Given the description of an element on the screen output the (x, y) to click on. 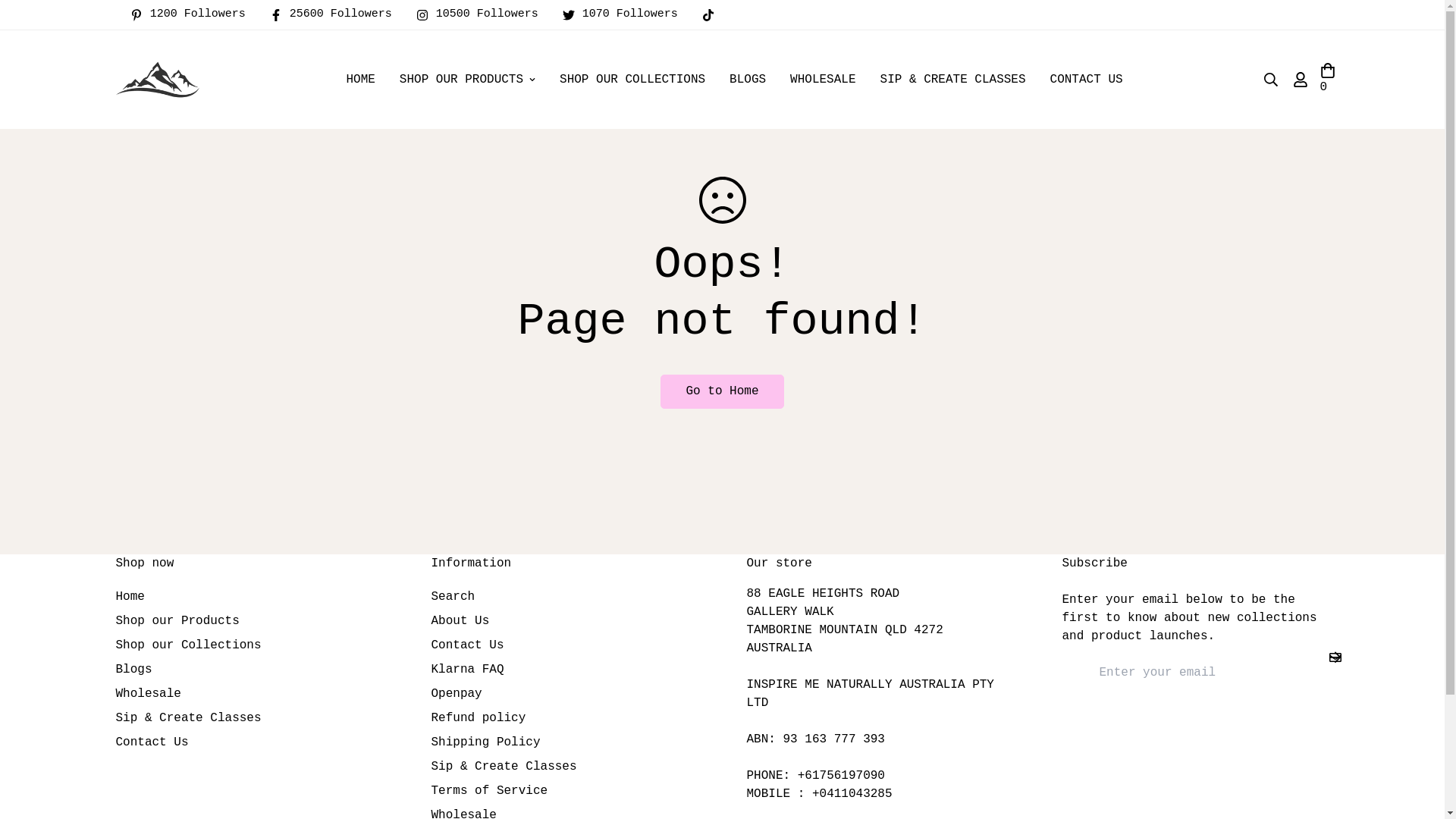
Go to Home Element type: text (721, 391)
+61756197090 Element type: text (840, 775)
HOME Element type: text (359, 79)
Openpay Element type: text (455, 693)
0 Element type: text (1327, 79)
Wholesale Element type: text (147, 693)
Contact Us Element type: text (151, 742)
Contact Us Element type: text (466, 645)
Shipping Policy Element type: text (484, 742)
+0411043285 Element type: text (852, 793)
1200 Followers Element type: text (193, 14)
Sip & Create Classes Element type: text (503, 766)
SHOP OUR PRODUCTS Element type: text (467, 79)
Search Element type: text (452, 596)
BLOGS Element type: text (747, 79)
About Us Element type: text (459, 620)
Terms of Service Element type: text (488, 790)
Refund policy Element type: text (477, 718)
CONTACT US Element type: text (1086, 79)
Inspire Me Naturally  Element type: hover (156, 79)
25600 Followers Element type: text (336, 14)
Shop our Collections Element type: text (187, 645)
SHOP OUR COLLECTIONS Element type: text (632, 79)
WHOLESALE Element type: text (822, 79)
1070 Followers Element type: text (626, 14)
10500 Followers Element type: text (483, 14)
Shop our Products Element type: text (176, 620)
SIP & CREATE CLASSES Element type: text (953, 79)
Klarna FAQ Element type: text (466, 669)
Blogs Element type: text (133, 669)
Home Element type: text (129, 596)
Sip & Create Classes Element type: text (187, 718)
